Given the description of an element on the screen output the (x, y) to click on. 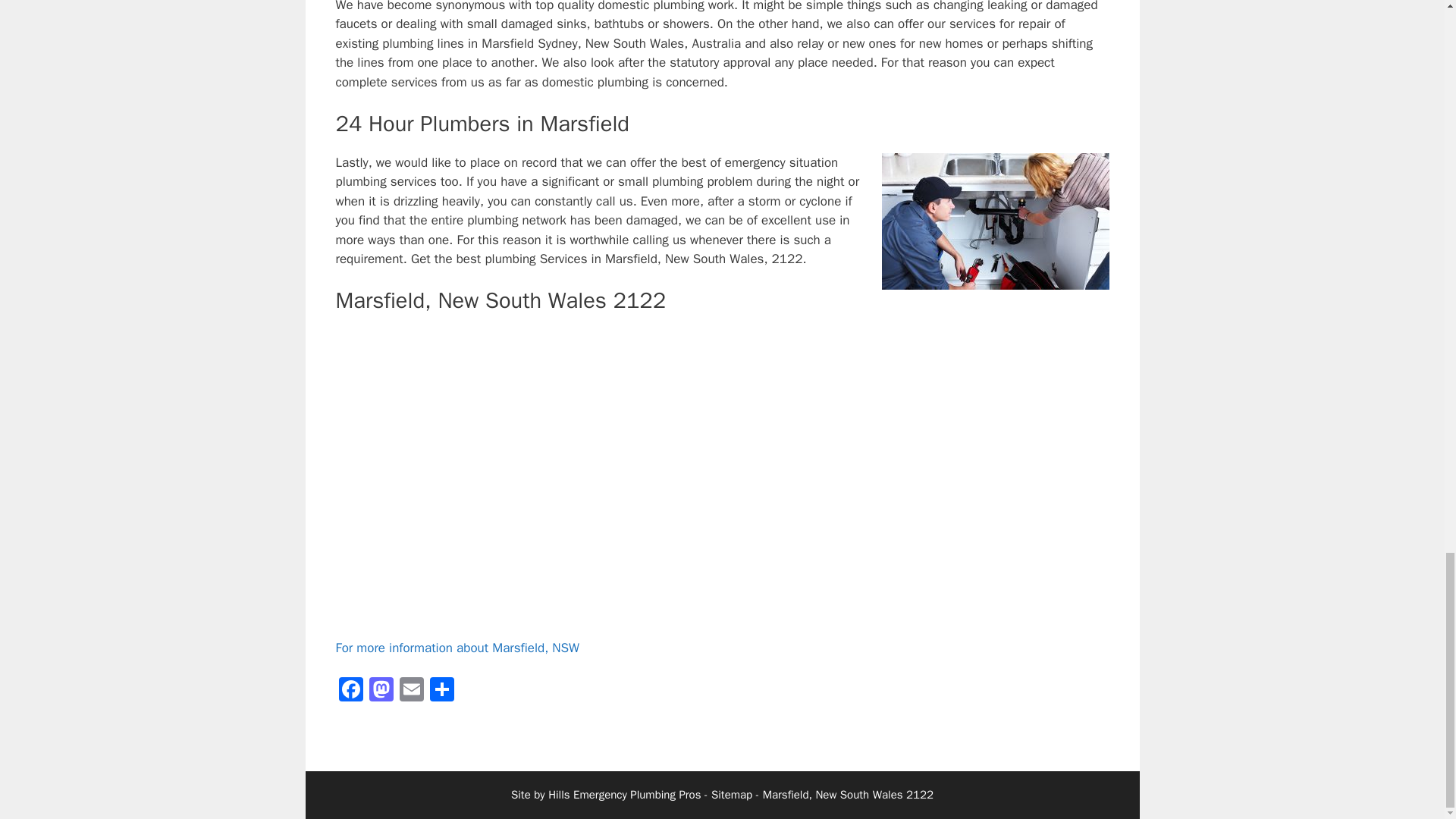
Hills Emergency Plumbing Pros (624, 794)
Email (411, 691)
Mastodon (380, 691)
Mastodon (380, 691)
Share (441, 691)
Sitemap (731, 794)
Email (411, 691)
For more information about Marsfield, NSW (456, 647)
Facebook (349, 691)
Facebook (349, 691)
